Given the description of an element on the screen output the (x, y) to click on. 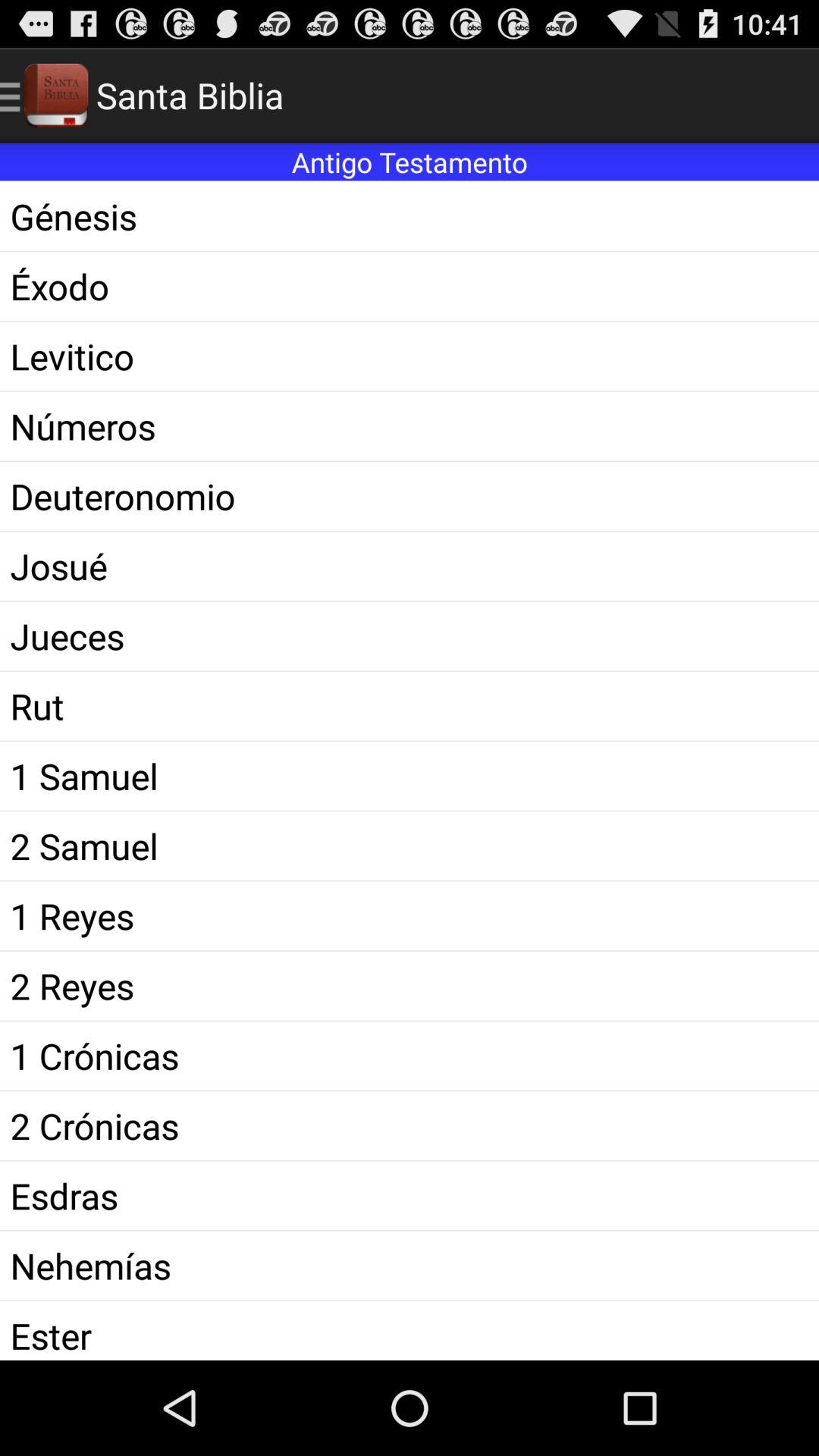
click icon above ester (409, 1265)
